Given the description of an element on the screen output the (x, y) to click on. 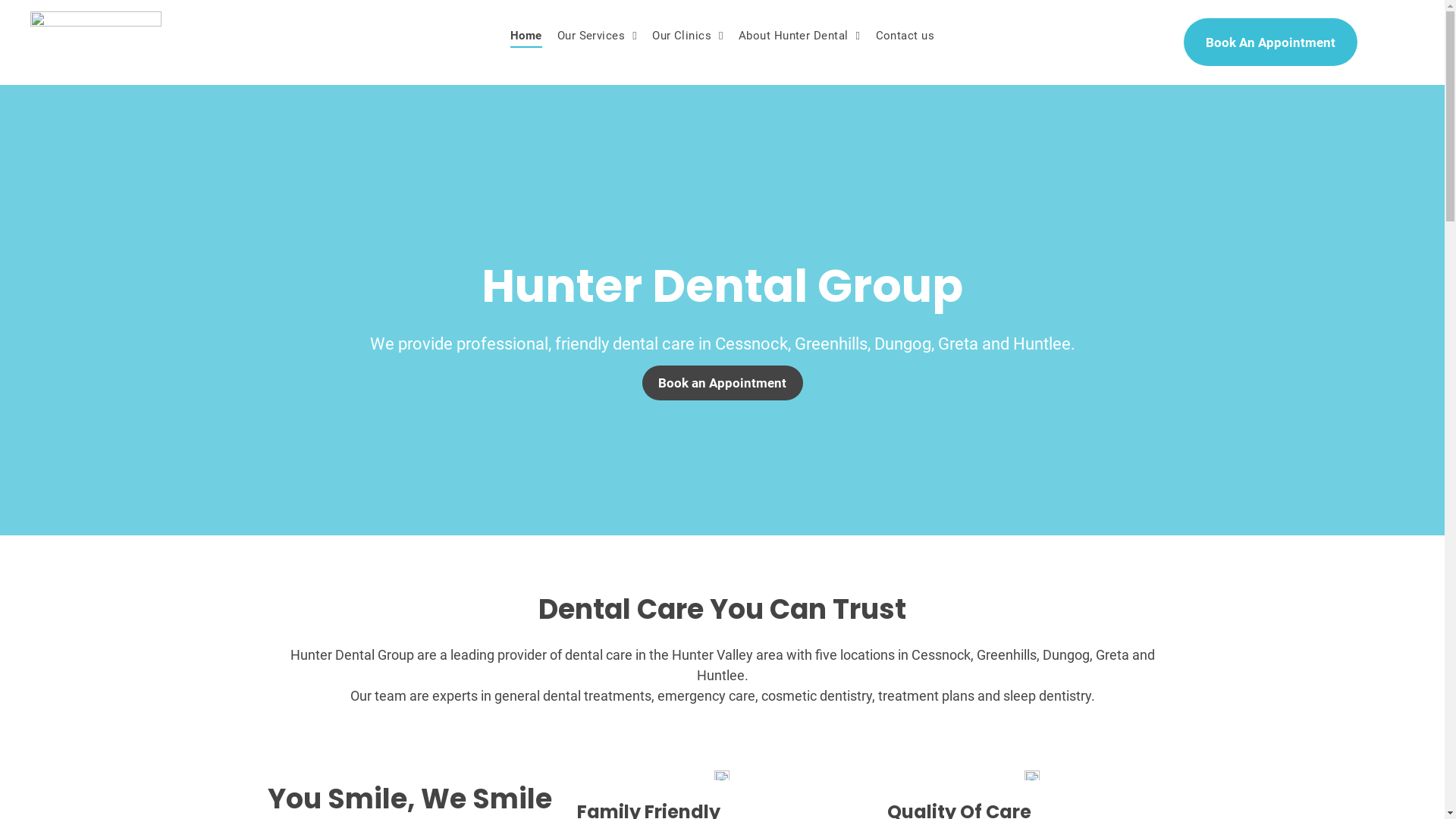
Our Services Element type: text (596, 35)
About Hunter Dental Element type: text (799, 35)
Book an Appointment Element type: text (721, 382)
Home Element type: text (525, 35)
Our Clinics Element type: text (687, 35)
Contact us Element type: text (904, 35)
Book An Appointment Element type: text (1270, 41)
